Given the description of an element on the screen output the (x, y) to click on. 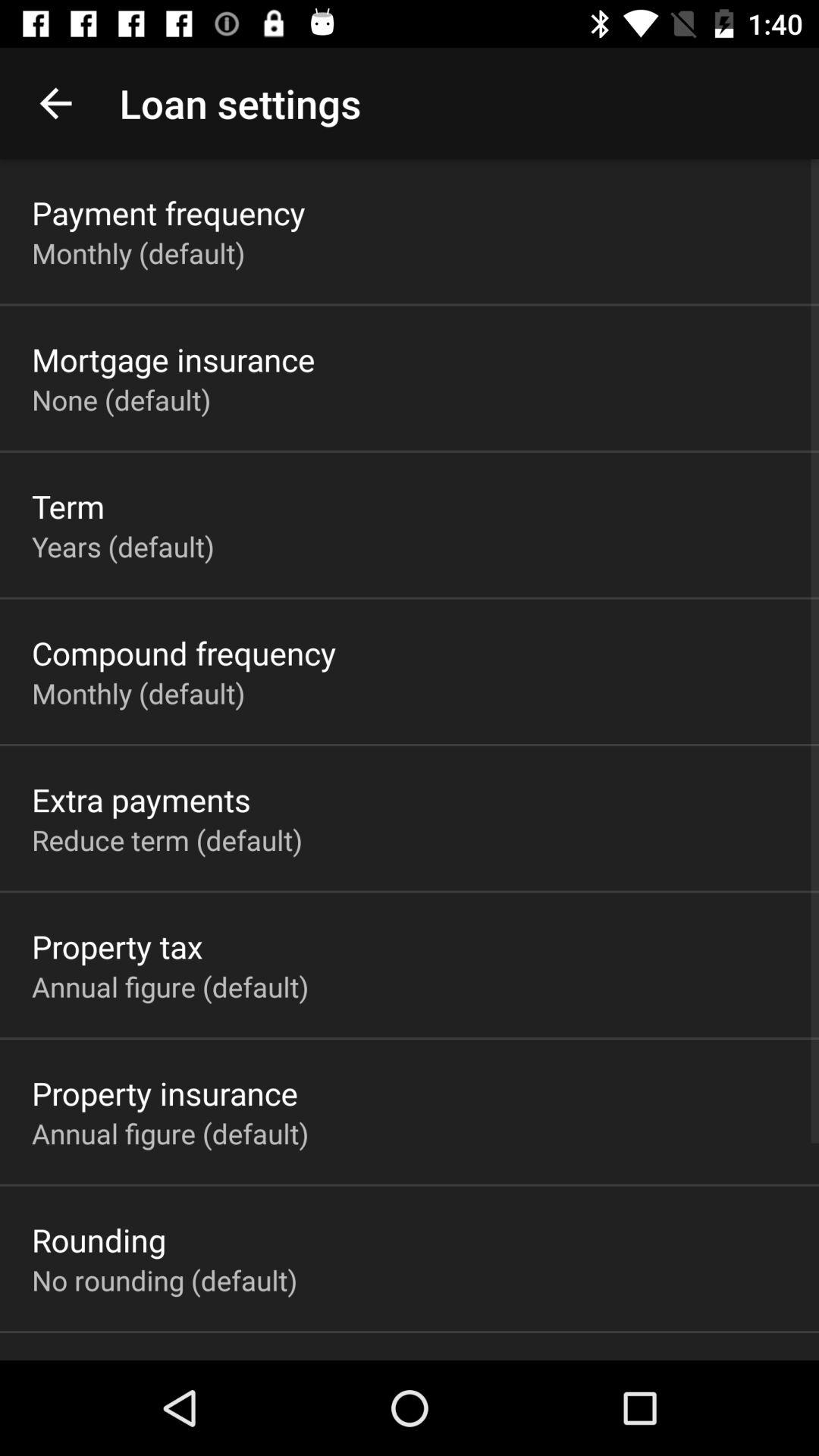
select payment frequency icon (168, 212)
